Given the description of an element on the screen output the (x, y) to click on. 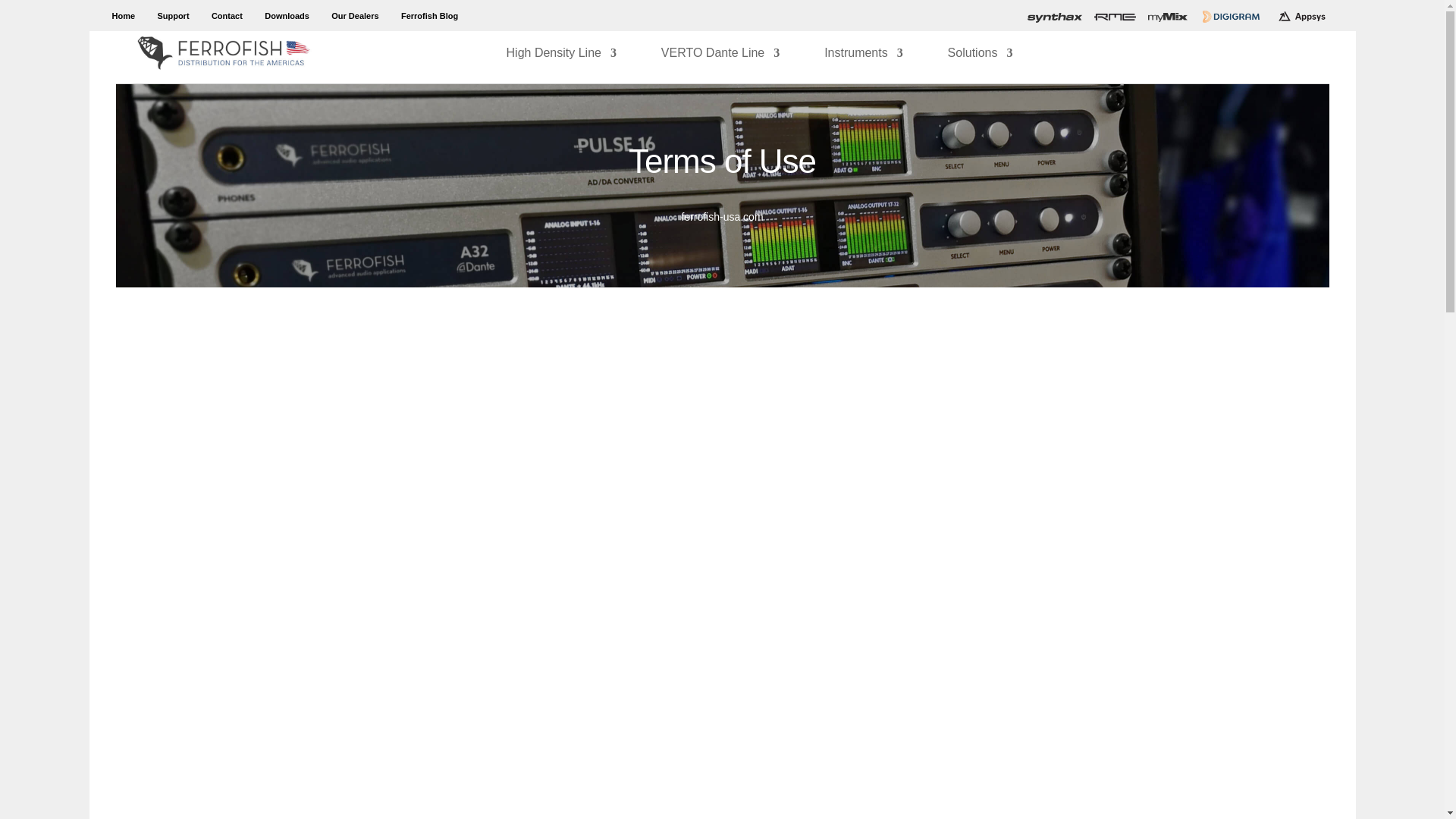
Ferrofish Blog (429, 18)
Our Dealers (354, 18)
Contact (227, 18)
Home (123, 18)
VERTO Dante Line (719, 65)
Downloads (286, 18)
High Density Line (560, 65)
Support (173, 18)
Instruments (863, 65)
